Given the description of an element on the screen output the (x, y) to click on. 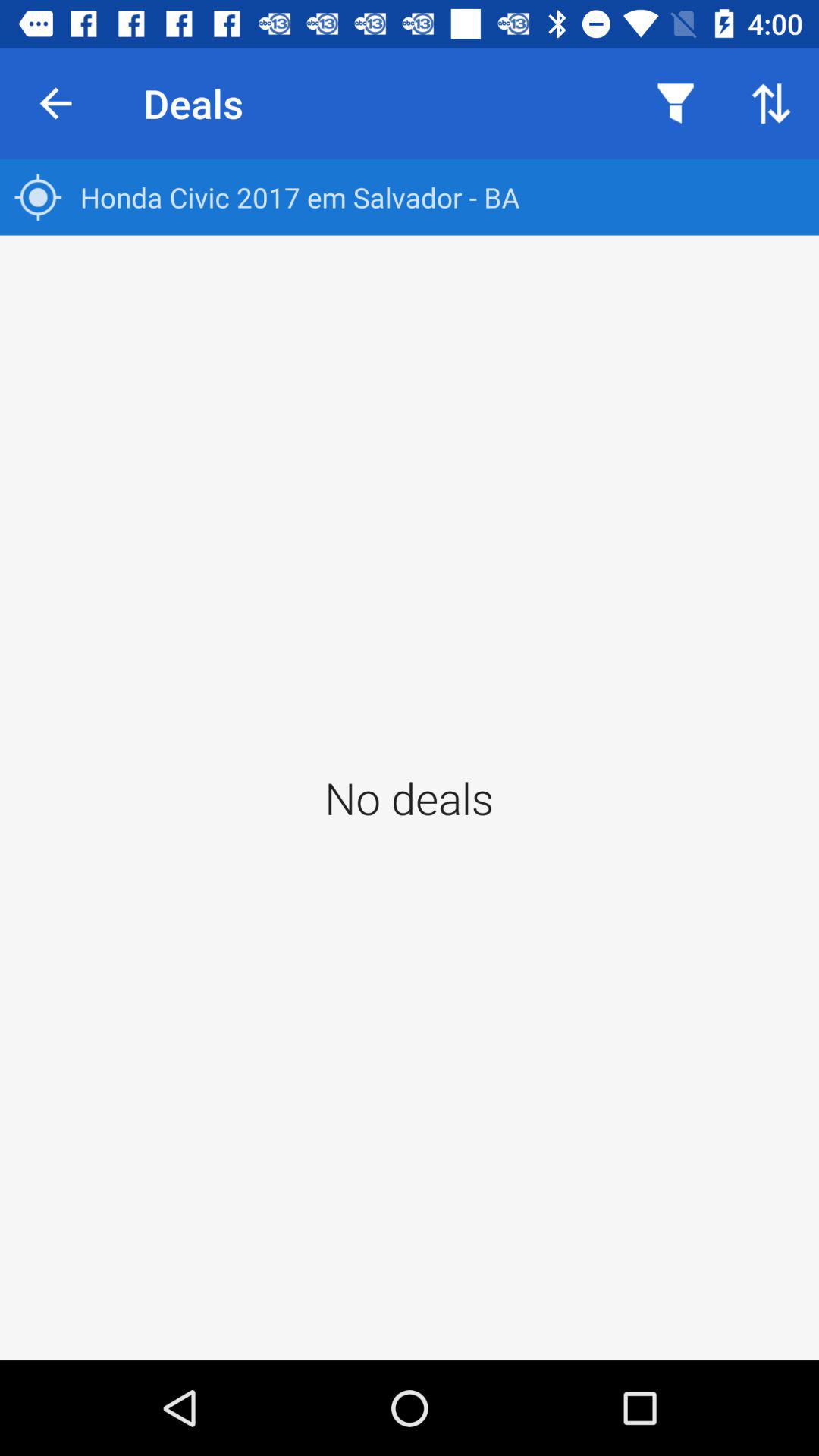
press icon above the honda civic 2017 item (675, 103)
